Given the description of an element on the screen output the (x, y) to click on. 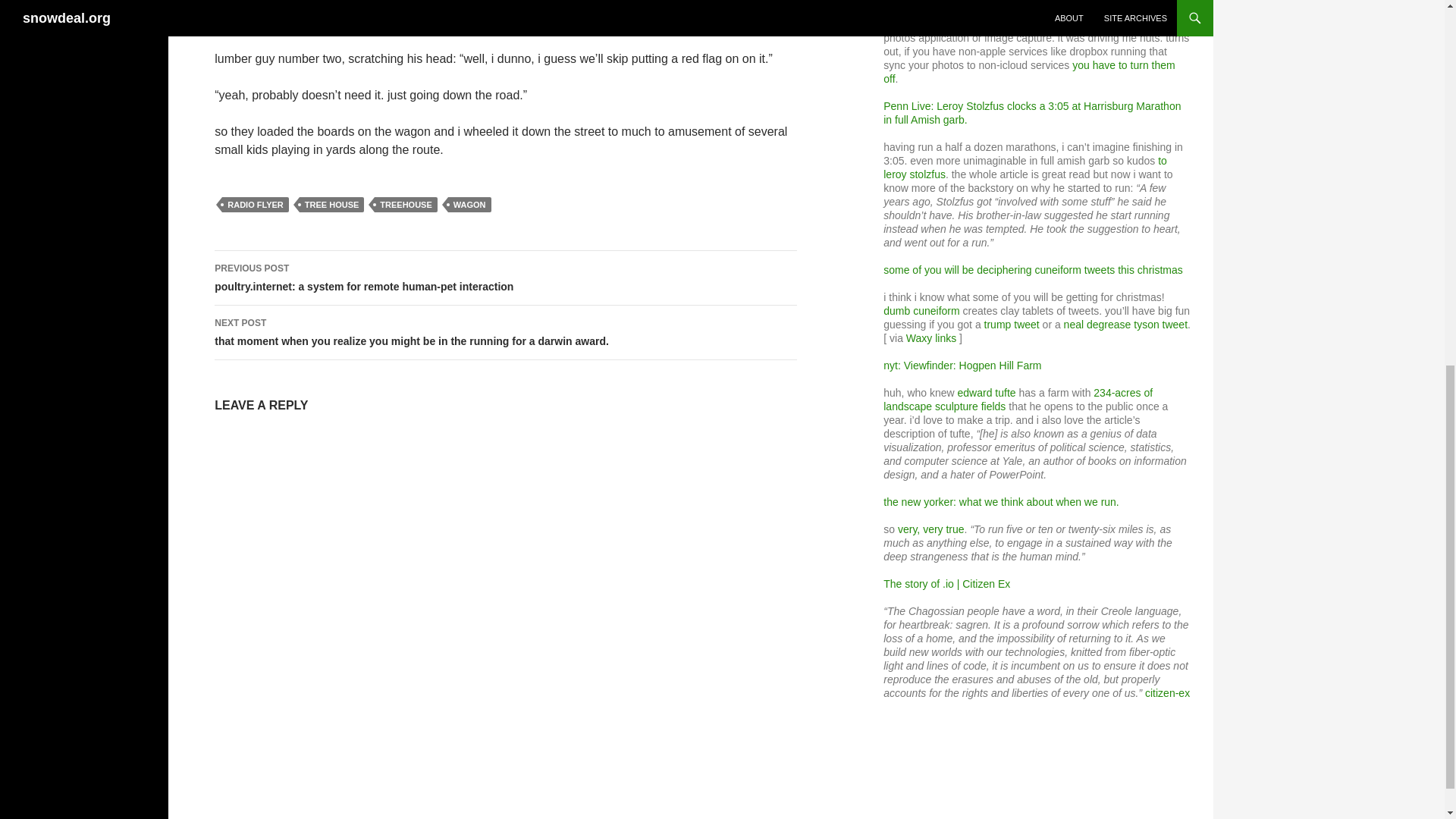
you have to turn them off (1028, 71)
WAGON (470, 204)
TREEHOUSE (405, 204)
RADIO FLYER (255, 204)
trump tweet (1011, 324)
dumb cuneiform (921, 310)
TREE HOUSE (332, 204)
to leroy stolzfus (1025, 167)
